Given the description of an element on the screen output the (x, y) to click on. 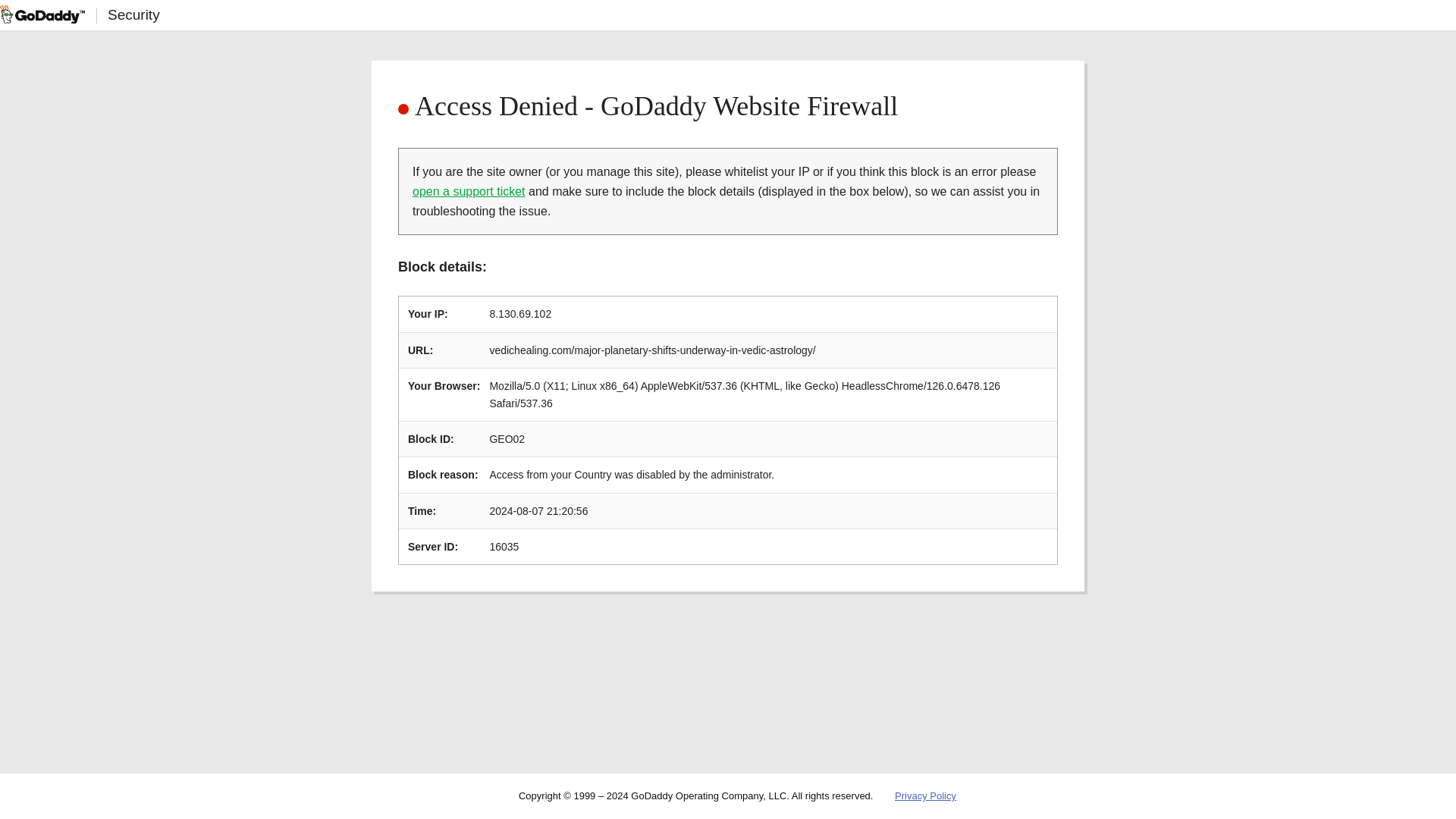
Privacy Policy (925, 795)
open a support ticket (468, 191)
